Given the description of an element on the screen output the (x, y) to click on. 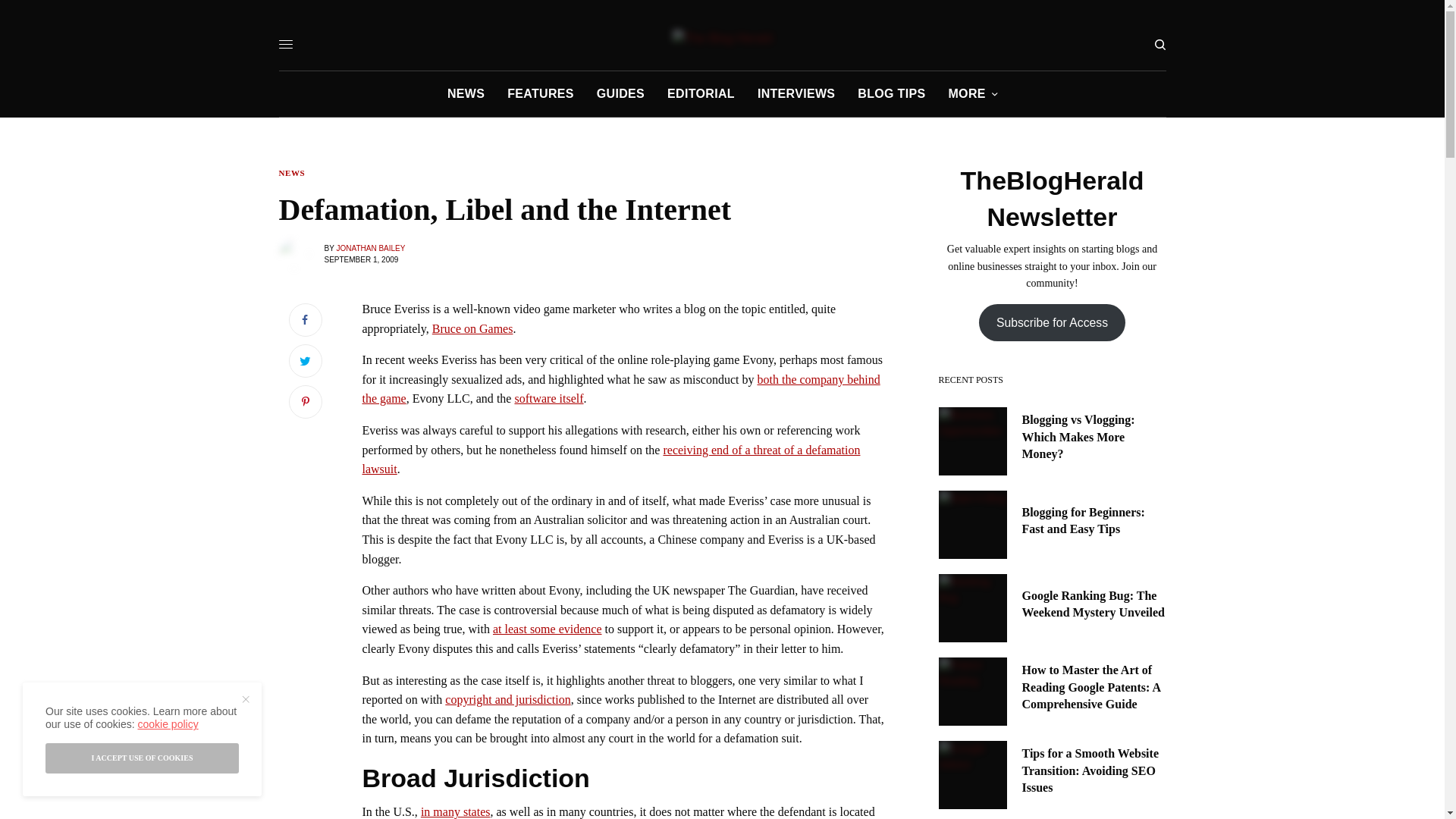
JONATHAN BAILEY (370, 248)
The Blog Herald (722, 38)
at least some evidence (547, 628)
EDITORIAL (700, 94)
FEATURES (539, 94)
BLOG TIPS (890, 94)
Blogging for Beginners: Fast and Easy Tips (1094, 521)
both the company behind the game (621, 389)
software itself (548, 398)
